Given the description of an element on the screen output the (x, y) to click on. 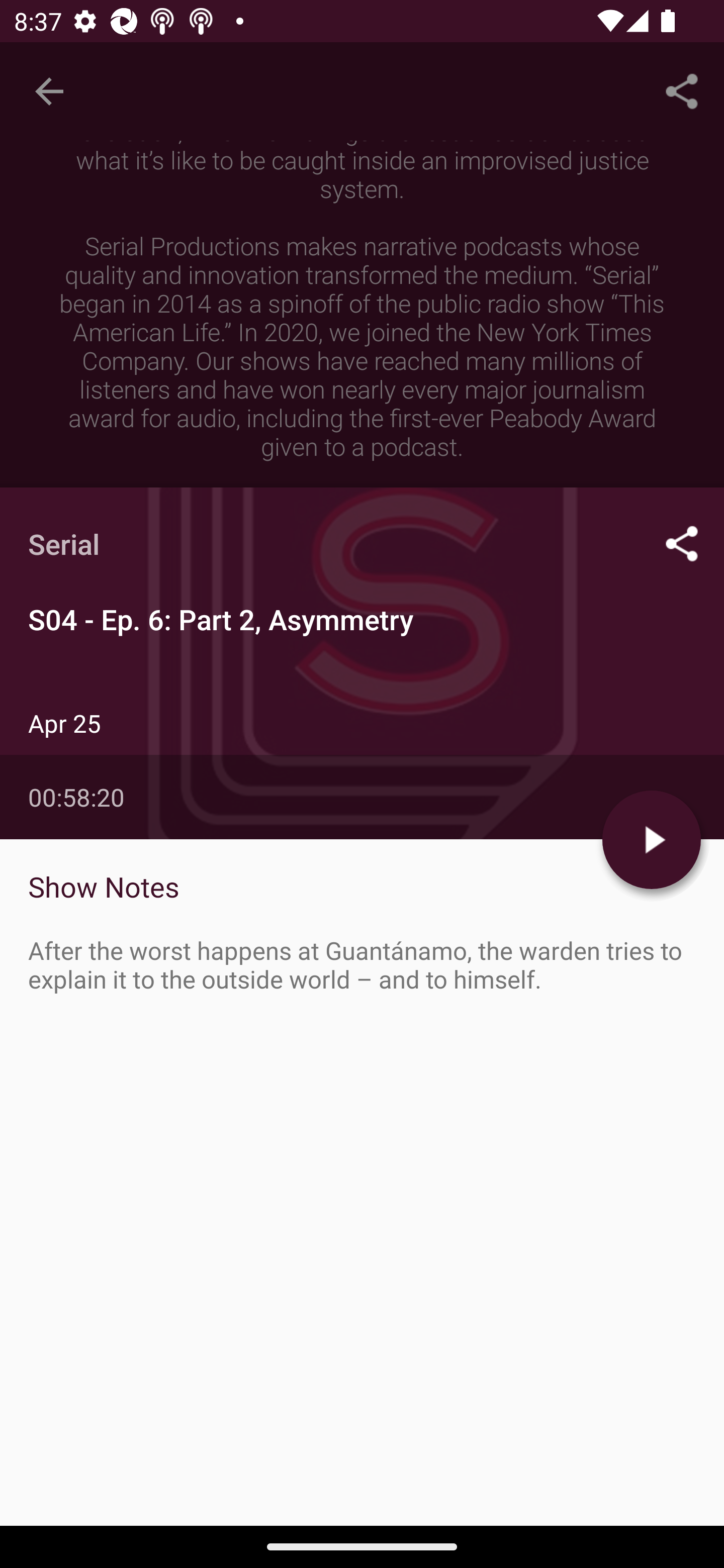
Navigate up (49, 91)
Share... (681, 90)
Apr 25 S04 - Ep. 6: Part 2, Asymmetry (362, 867)
Apr 18 S04 - Ep. 5: The Big Chicken, Part 1 (362, 985)
